Given the description of an element on the screen output the (x, y) to click on. 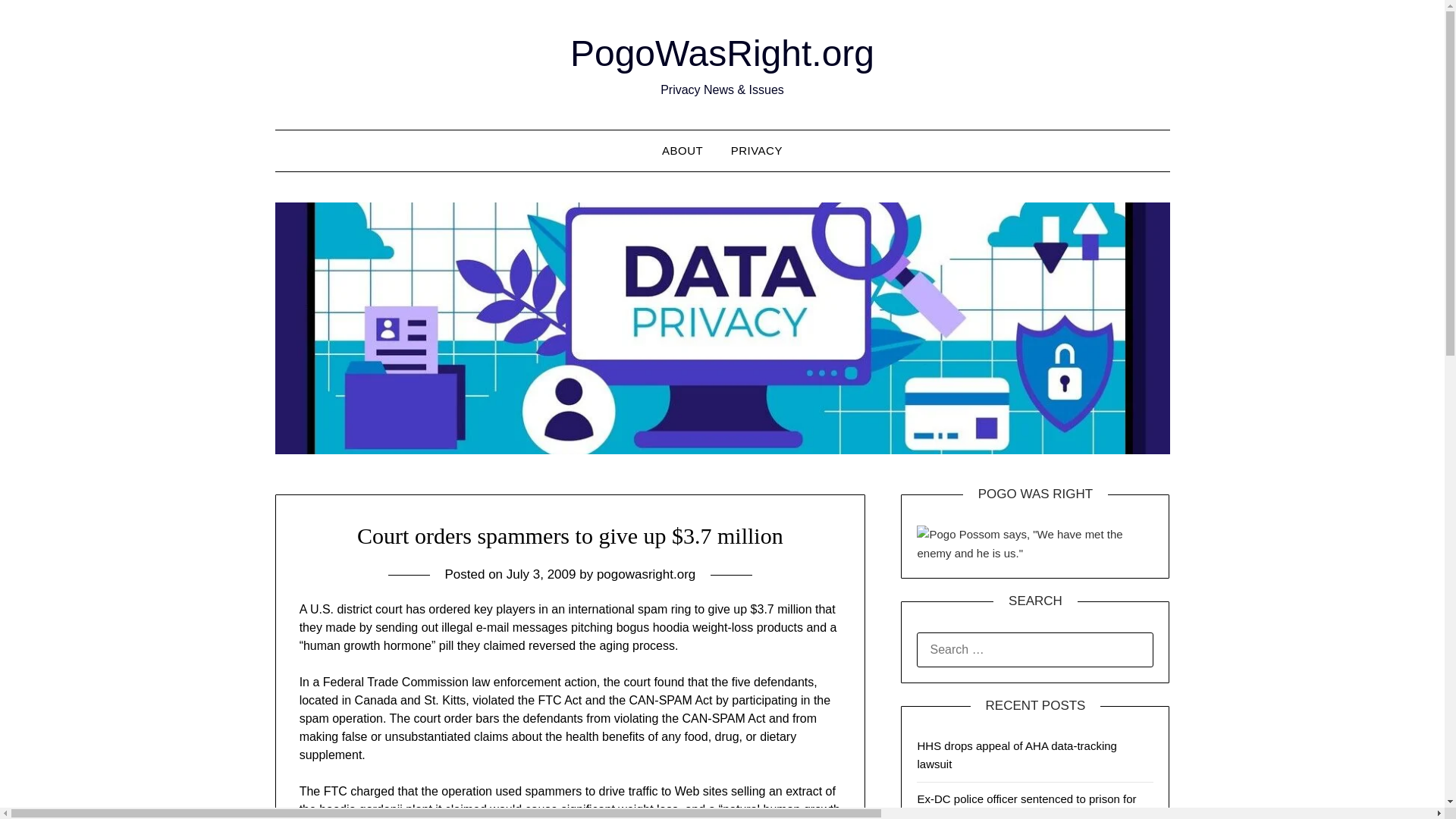
PRIVACY (756, 150)
Pogo Was Right (1035, 543)
ABOUT (681, 150)
HHS drops appeal of AHA data-tracking lawsuit (1016, 754)
Search (38, 22)
pogowasright.org (645, 574)
July 3, 2009 (541, 574)
PogoWasRight.org (722, 53)
